Given the description of an element on the screen output the (x, y) to click on. 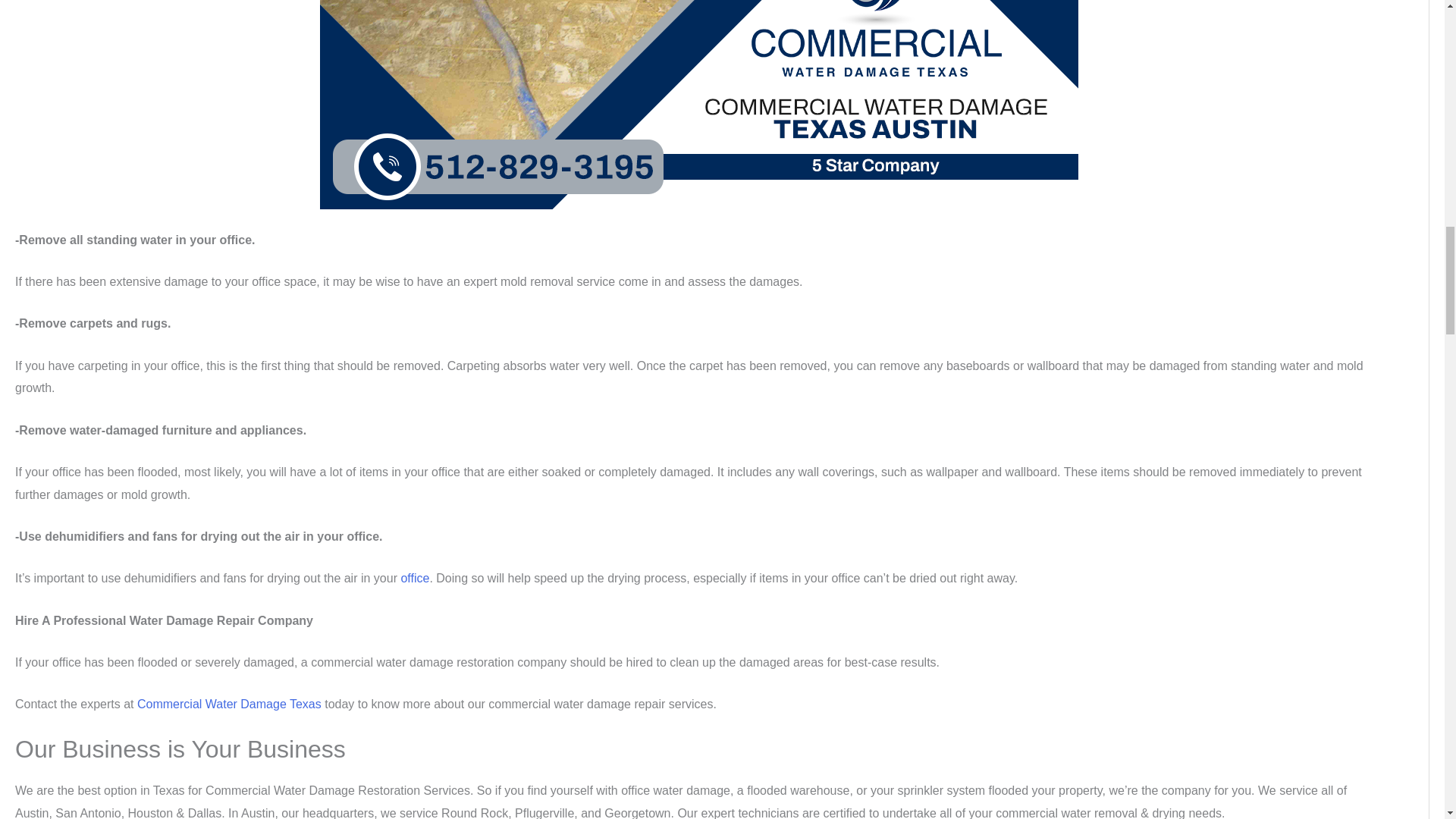
Commercial Water Damage Texas (228, 703)
office (414, 577)
